Given the description of an element on the screen output the (x, y) to click on. 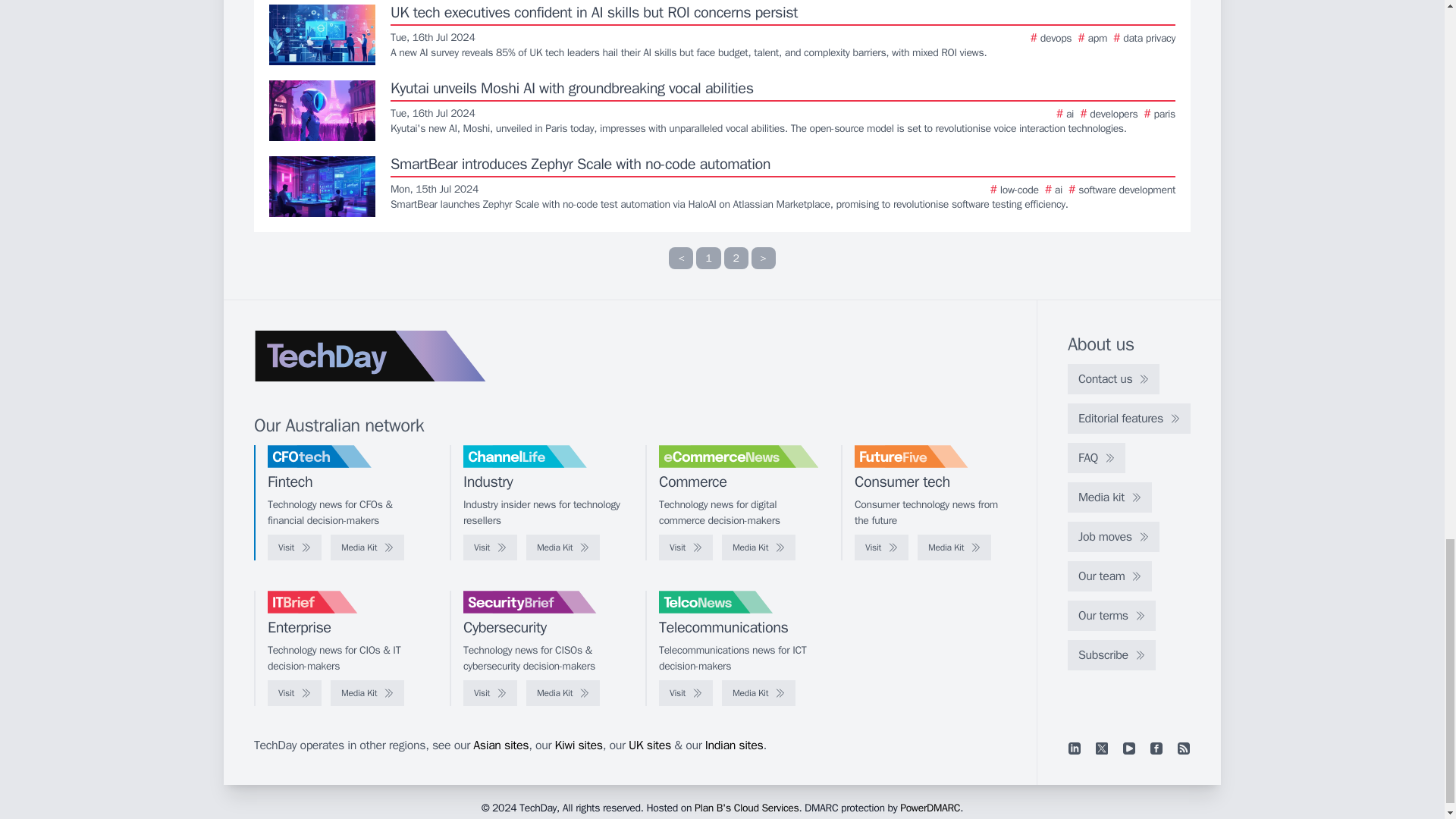
Media Kit (562, 547)
1 (707, 258)
Visit (294, 547)
Media Kit (367, 547)
Visit (489, 547)
2 (735, 258)
